Given the description of an element on the screen output the (x, y) to click on. 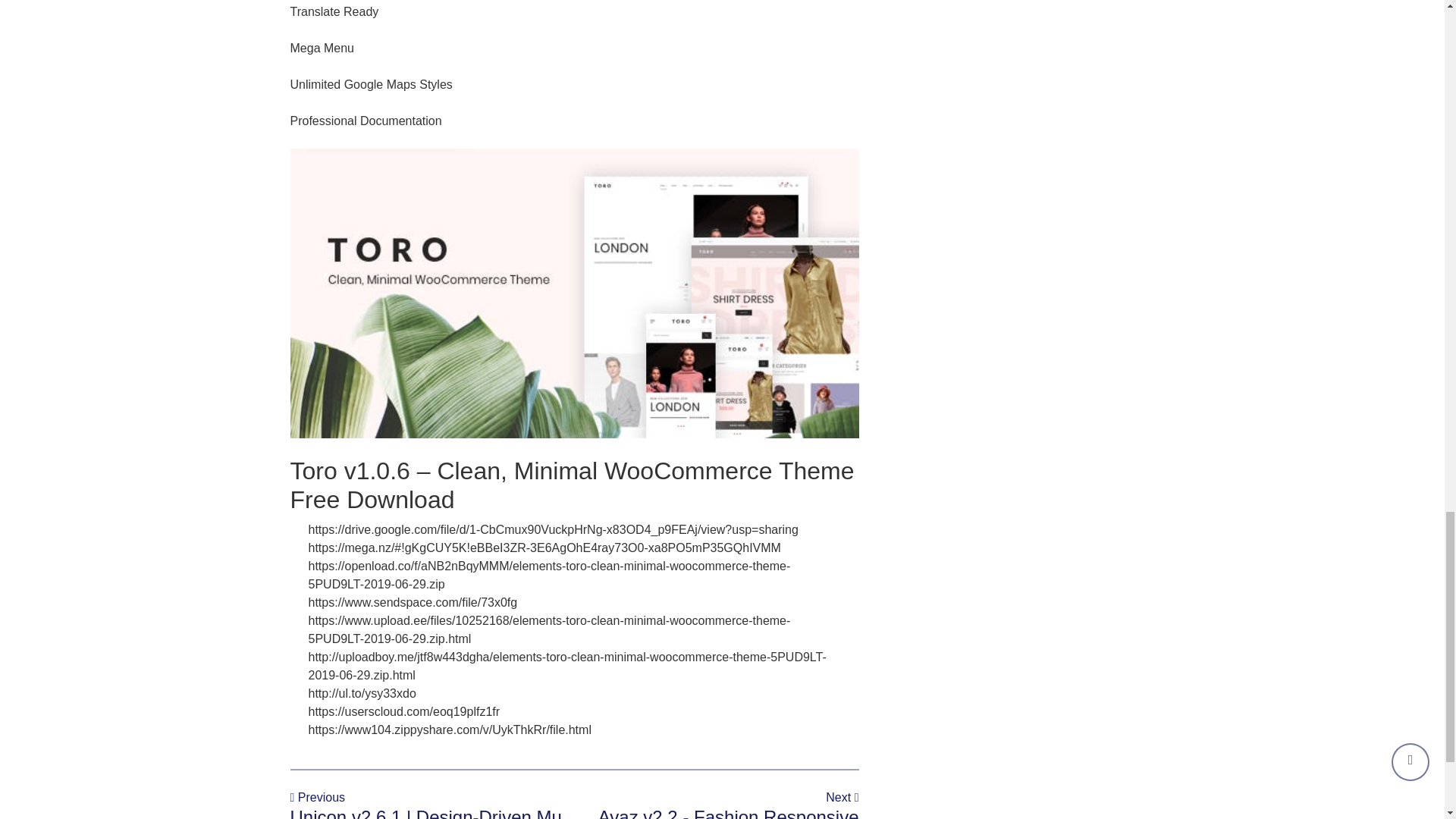
Previous (317, 797)
Next (842, 797)
Avaz v2.2 - Fashion Responsive WooCommerce Wordpress Theme (723, 812)
